Given the description of an element on the screen output the (x, y) to click on. 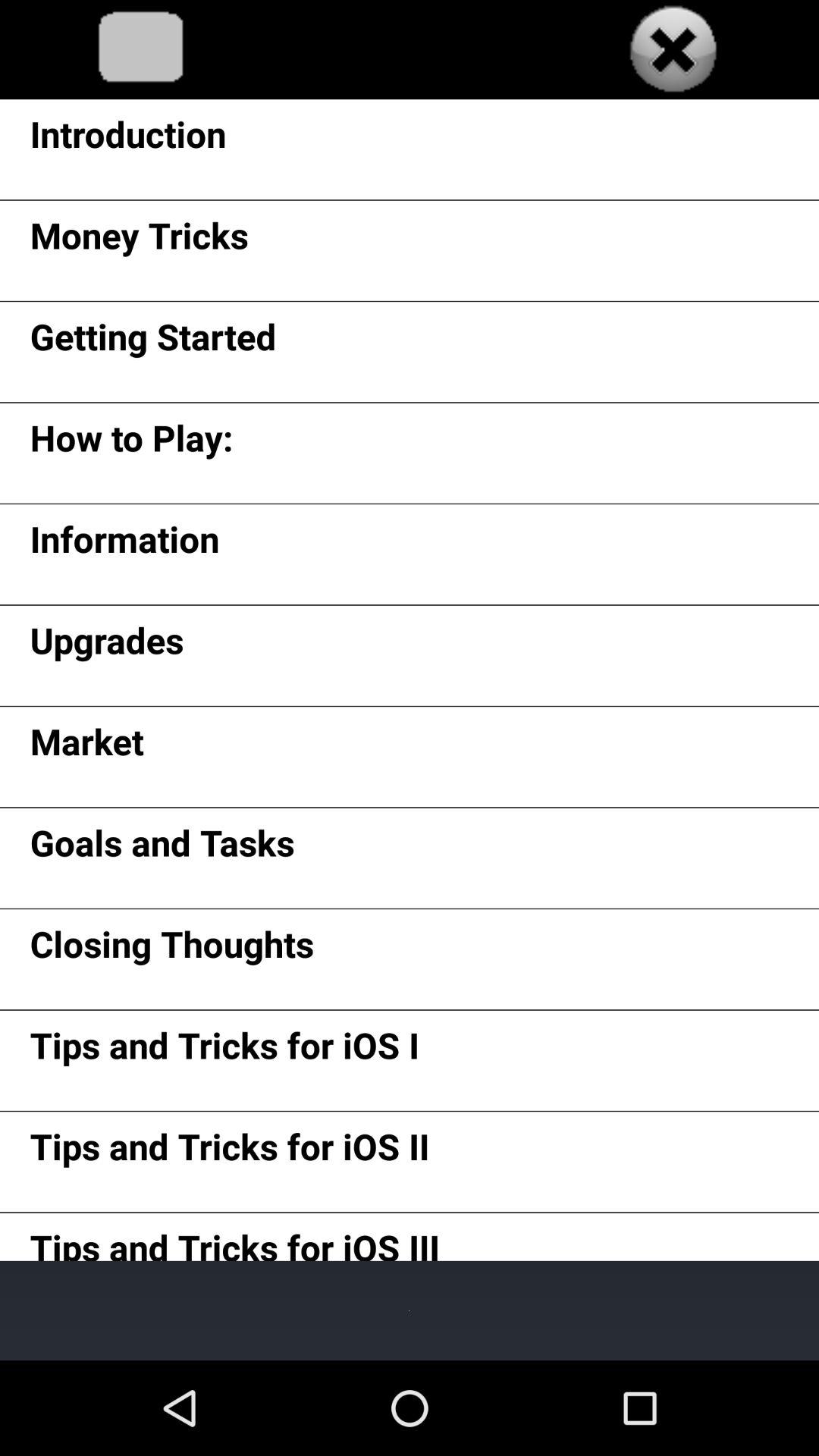
scroll until the information icon (124, 544)
